Given the description of an element on the screen output the (x, y) to click on. 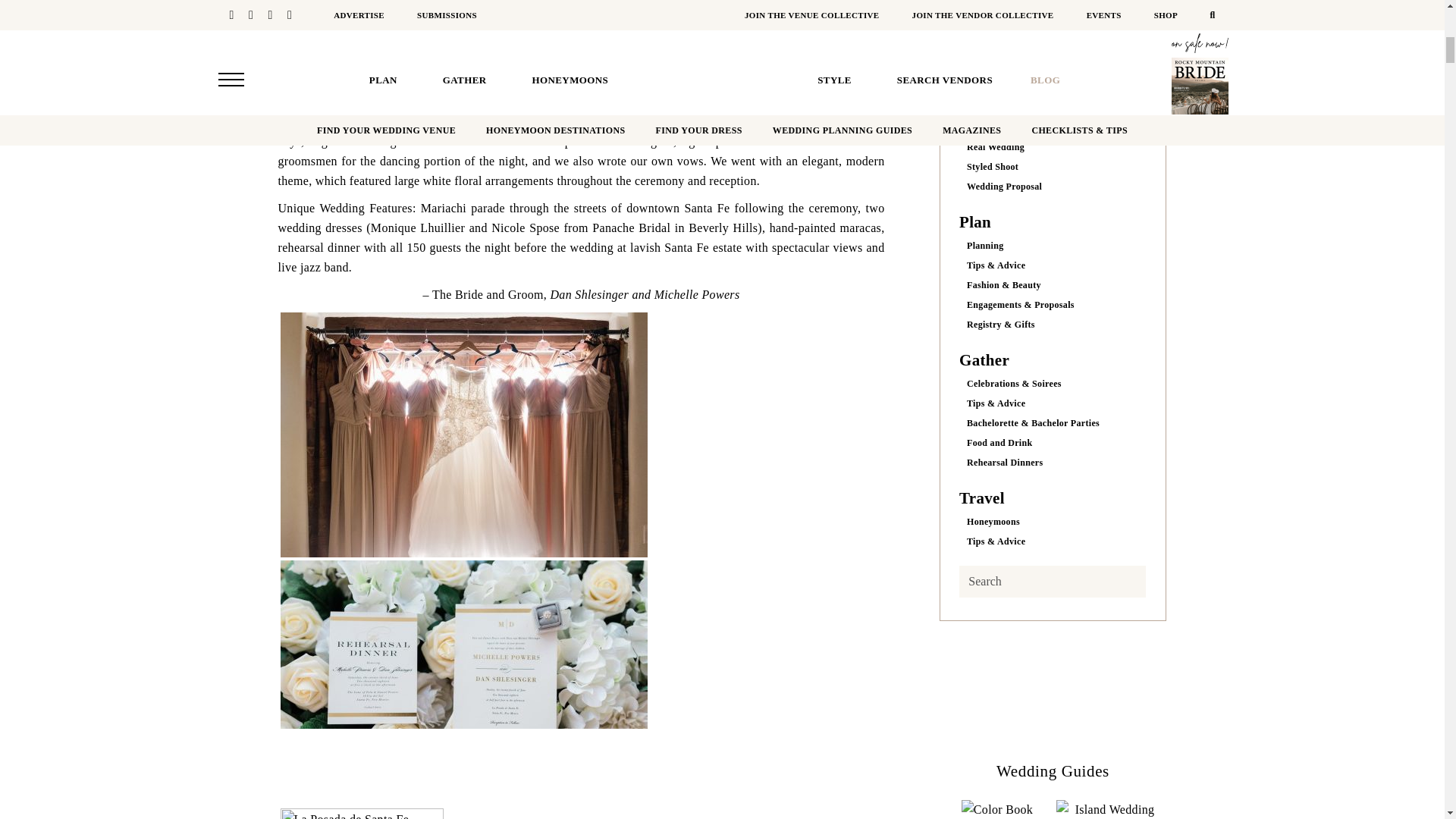
La Posada de Santa Fe Wedding 68 (464, 682)
La Posada de Santa Fe Wedding 1 (464, 434)
Search (1052, 581)
La Posada de Santa Fe Wedding 69 (362, 813)
Search (1052, 581)
